Given the description of an element on the screen output the (x, y) to click on. 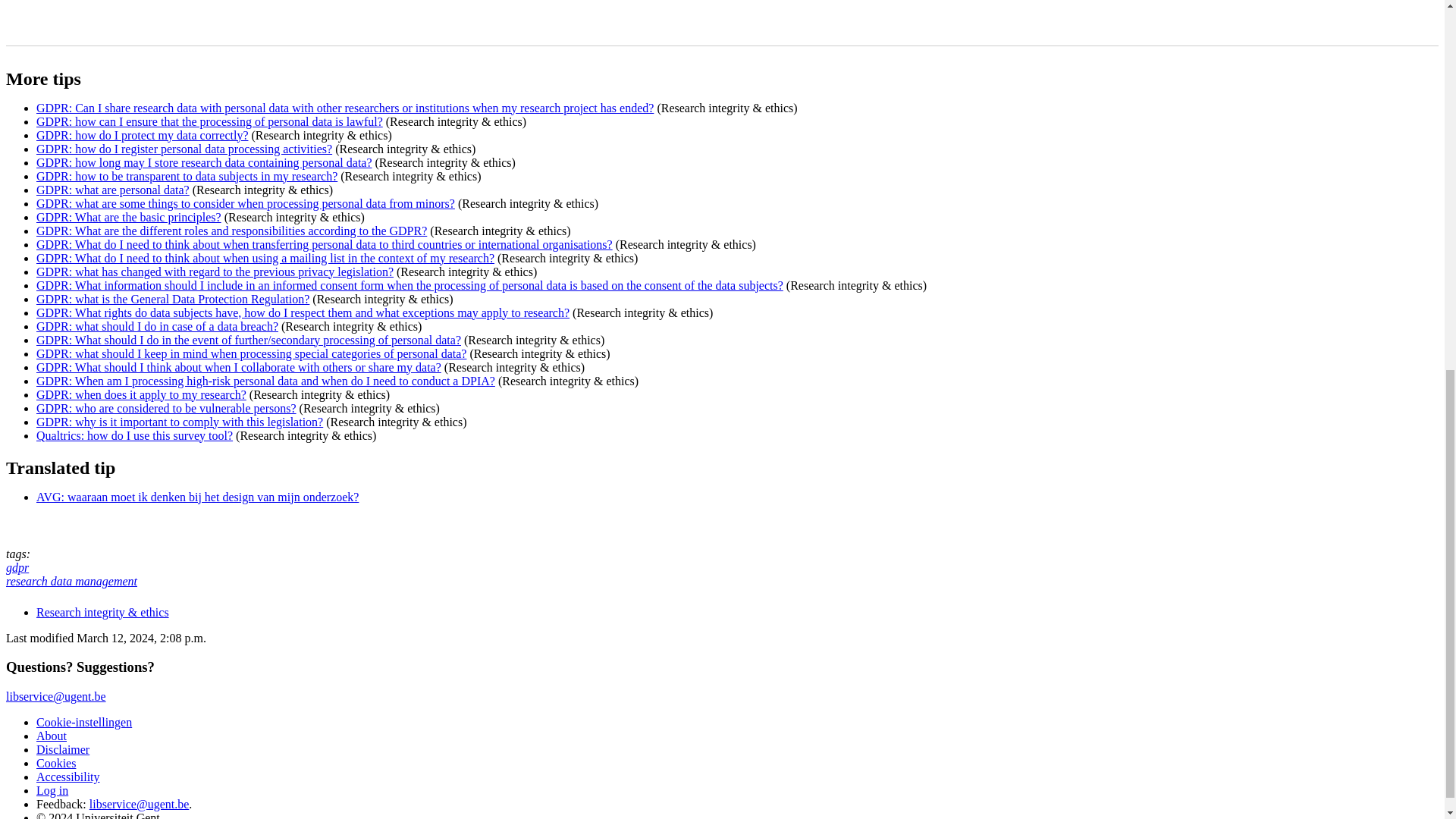
GDPR: what are personal data? (112, 189)
GDPR: what is the General Data Protection Regulation? (172, 298)
GDPR: how do I register personal data processing activities? (183, 148)
Cookie-instellingen (84, 721)
GDPR: how to be transparent to data subjects in my research? (186, 175)
